Given the description of an element on the screen output the (x, y) to click on. 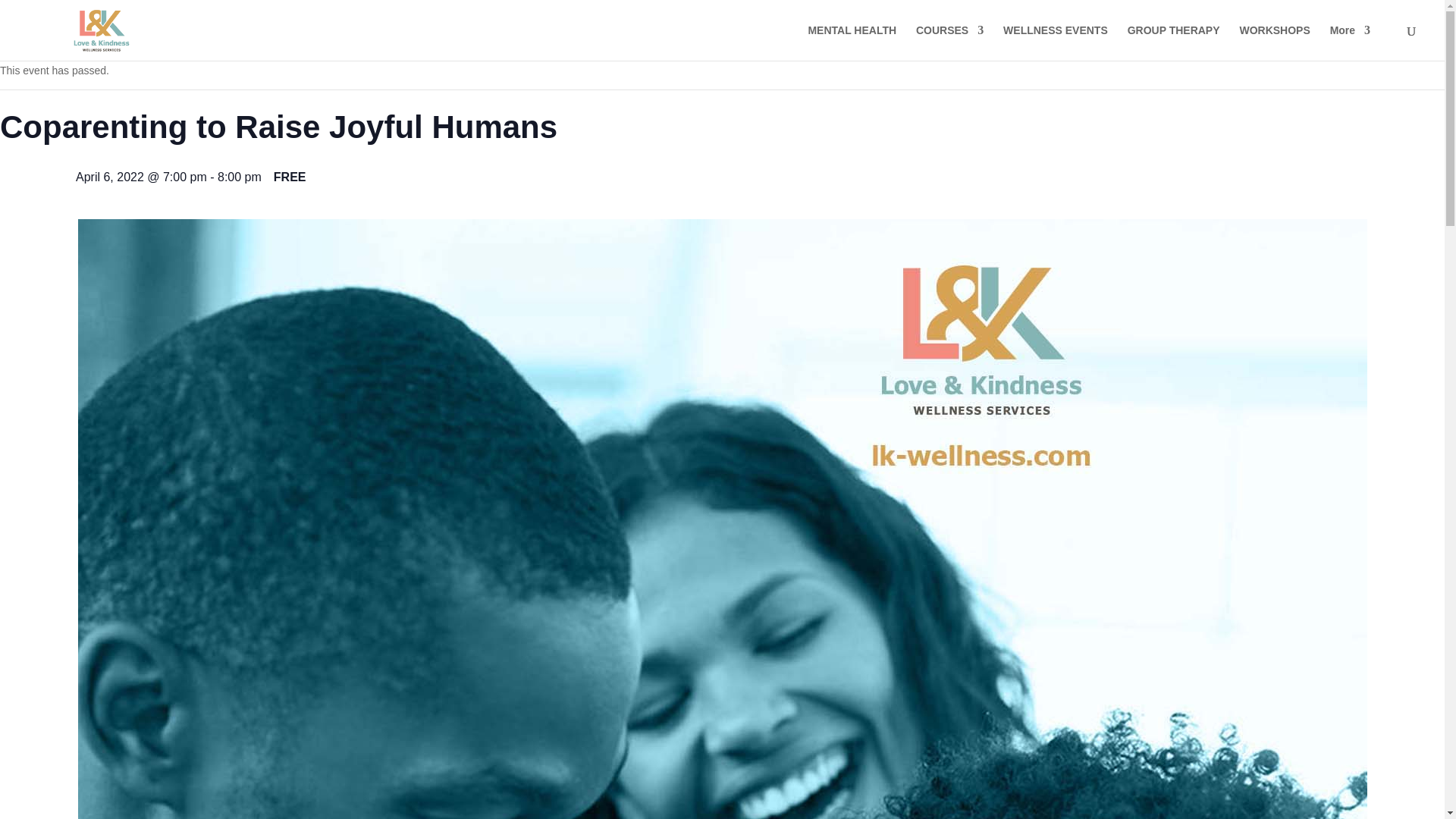
More (1350, 42)
GROUP THERAPY (1173, 42)
COURSES (949, 42)
WORKSHOPS (1273, 42)
WELLNESS EVENTS (1055, 42)
MENTAL HEALTH (852, 42)
